Given the description of an element on the screen output the (x, y) to click on. 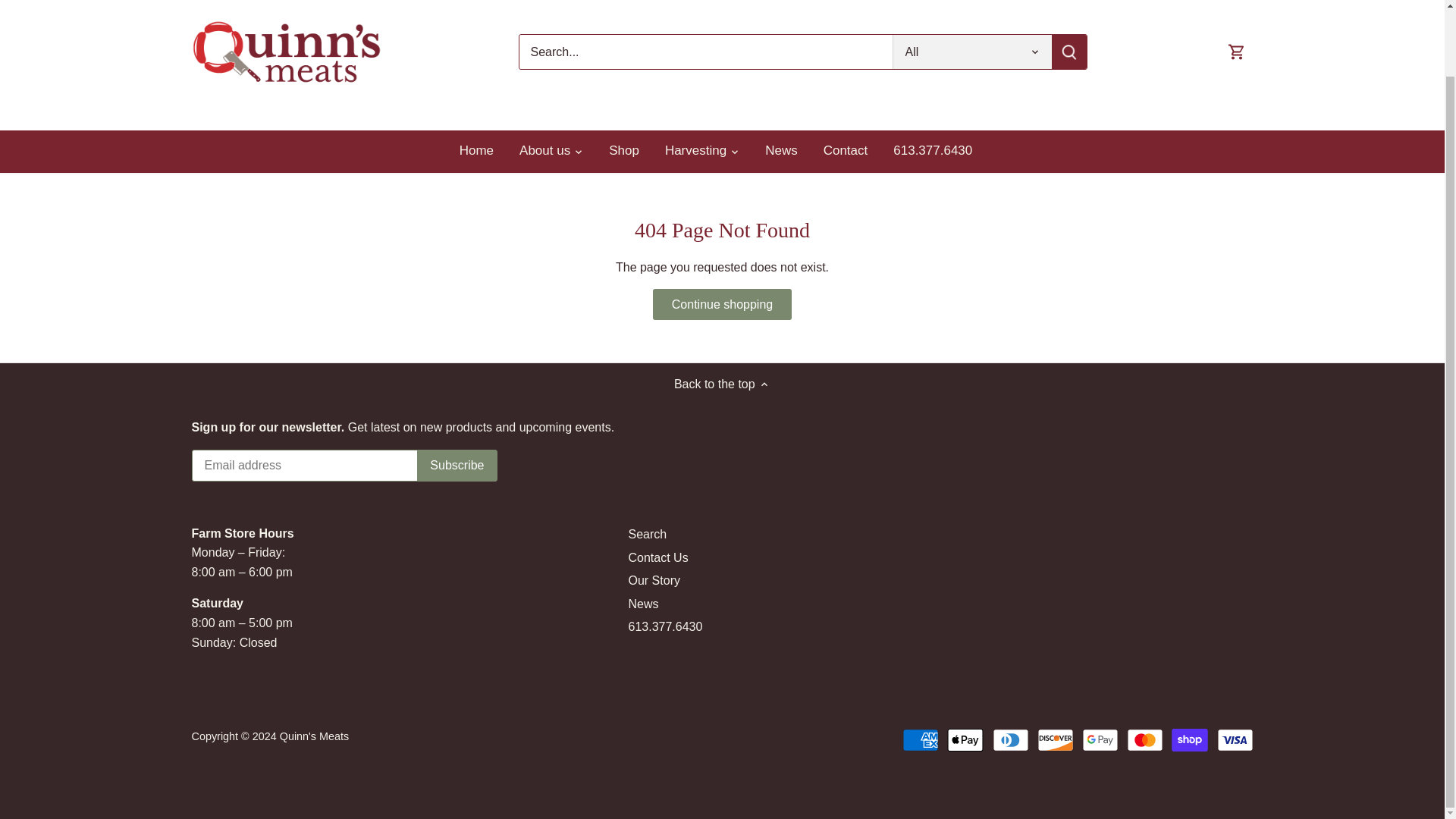
Contact Us (657, 558)
Shop (623, 151)
News (642, 603)
Home (483, 151)
Harvesting (695, 151)
Discover (1055, 739)
Google Pay (1099, 739)
Diners Club (1010, 739)
Continue shopping (721, 304)
About us (544, 151)
613.377.6430 (932, 151)
American Express (920, 739)
Apple Pay (965, 739)
613.377.6430 (664, 626)
News (781, 151)
